Given the description of an element on the screen output the (x, y) to click on. 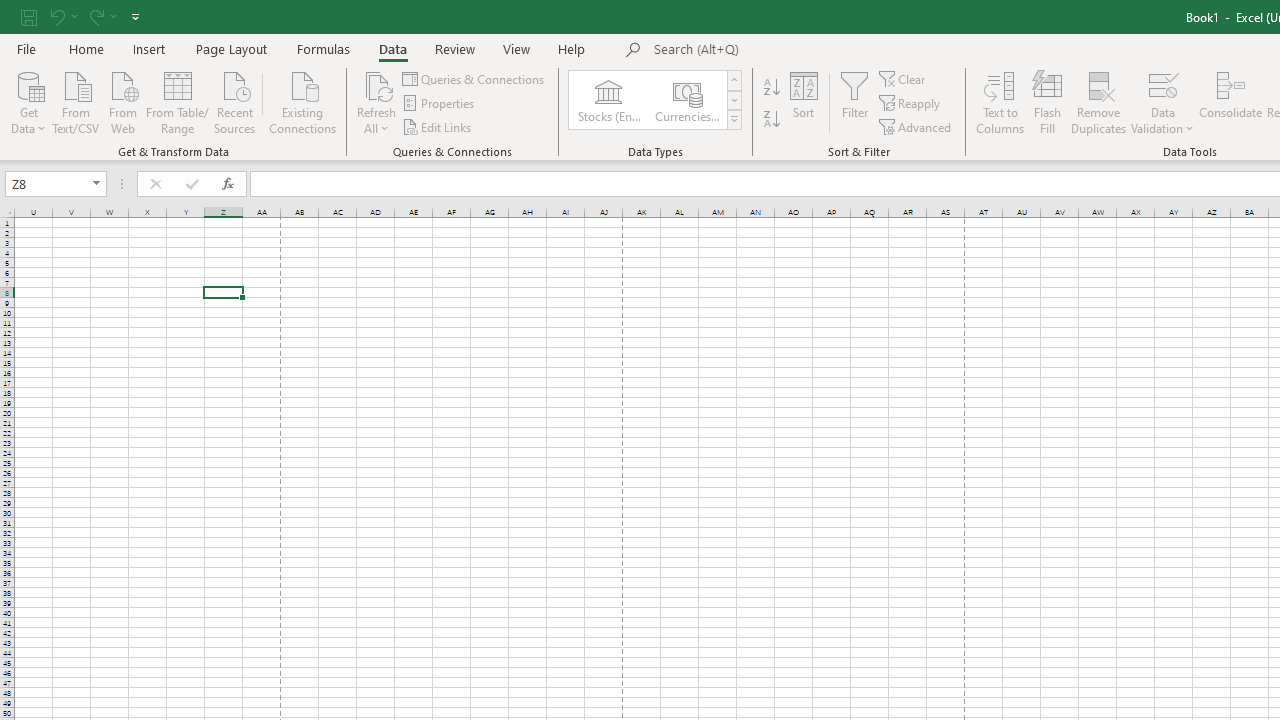
Consolidate... (1230, 102)
